Given the description of an element on the screen output the (x, y) to click on. 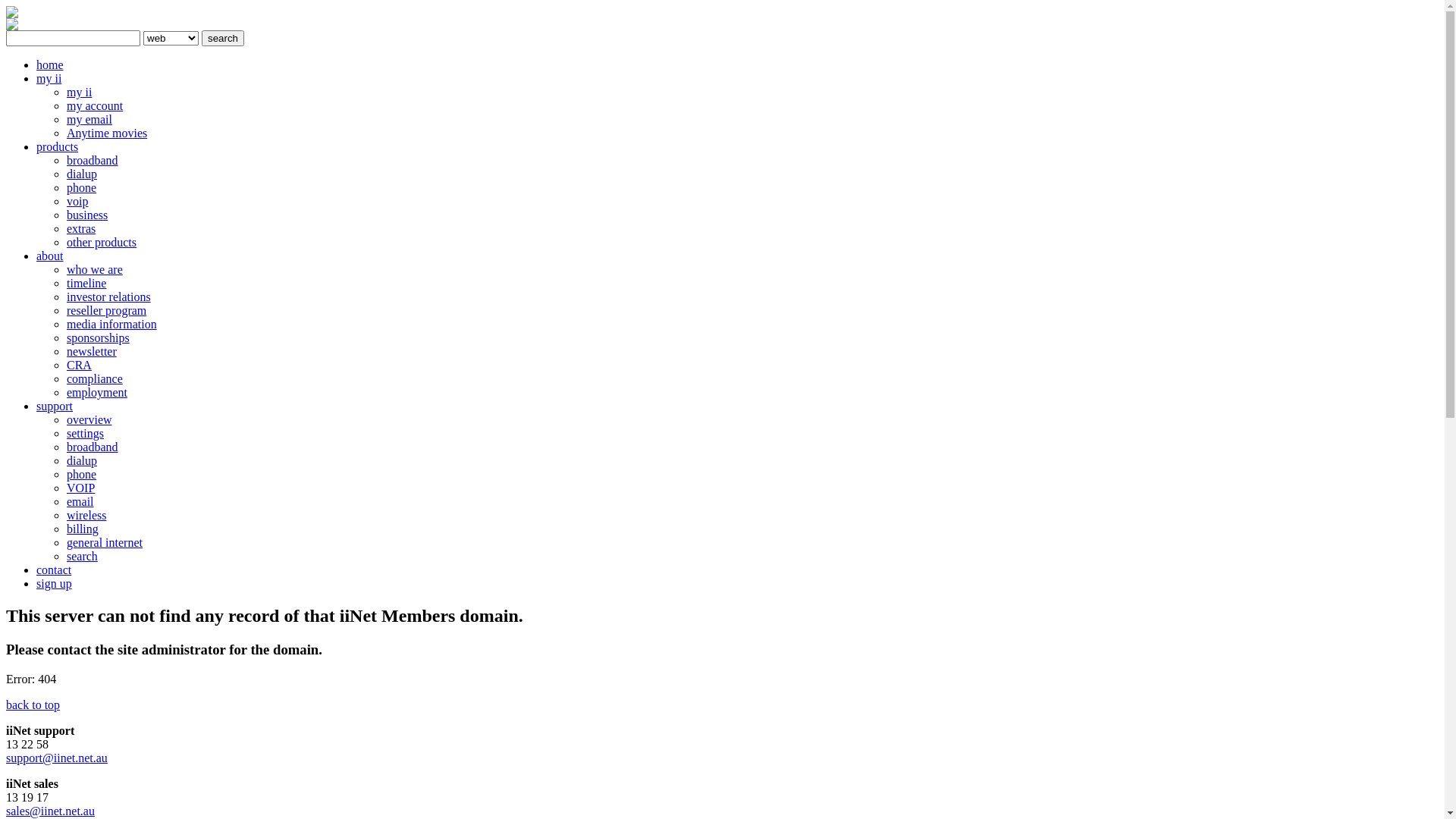
dialup Element type: text (81, 460)
voip Element type: text (76, 200)
timeline Element type: text (86, 282)
email Element type: text (80, 501)
other products Element type: text (101, 241)
phone Element type: text (81, 187)
my account Element type: text (94, 105)
overview Element type: text (89, 419)
dialup Element type: text (81, 173)
my ii Element type: text (78, 91)
wireless Element type: text (86, 514)
back to top Element type: text (32, 704)
my email Element type: text (89, 118)
billing Element type: text (82, 528)
business Element type: text (86, 214)
products Element type: text (57, 146)
sales@iinet.net.au Element type: text (50, 810)
broadband Element type: text (92, 159)
search Element type: text (222, 38)
sign up Element type: text (54, 583)
compliance Element type: text (94, 378)
broadband Element type: text (92, 446)
support Element type: text (54, 405)
contact Element type: text (53, 569)
investor relations Element type: text (108, 296)
who we are Element type: text (94, 269)
about Element type: text (49, 255)
my ii Element type: text (48, 78)
reseller program Element type: text (106, 310)
extras Element type: text (80, 228)
sponsorships Element type: text (97, 337)
settings Element type: text (84, 432)
newsletter Element type: text (91, 351)
support@iinet.net.au Element type: text (56, 757)
search Element type: text (81, 555)
phone Element type: text (81, 473)
VOIP Element type: text (80, 487)
general internet Element type: text (104, 542)
Anytime movies Element type: text (106, 132)
employment Element type: text (96, 391)
home Element type: text (49, 64)
CRA Element type: text (78, 364)
media information Element type: text (111, 323)
